Given the description of an element on the screen output the (x, y) to click on. 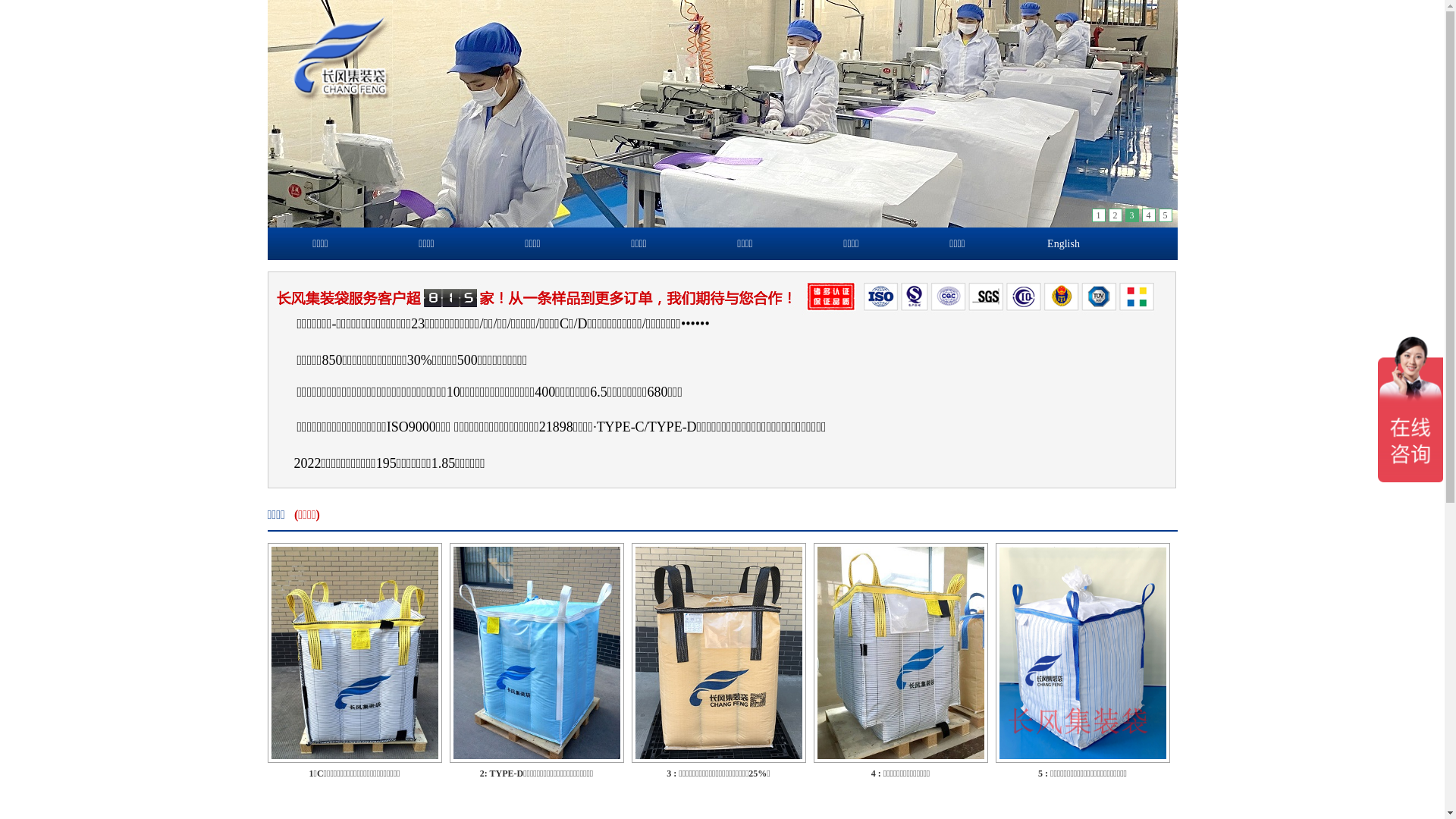
English Element type: text (1063, 243)
